Given the description of an element on the screen output the (x, y) to click on. 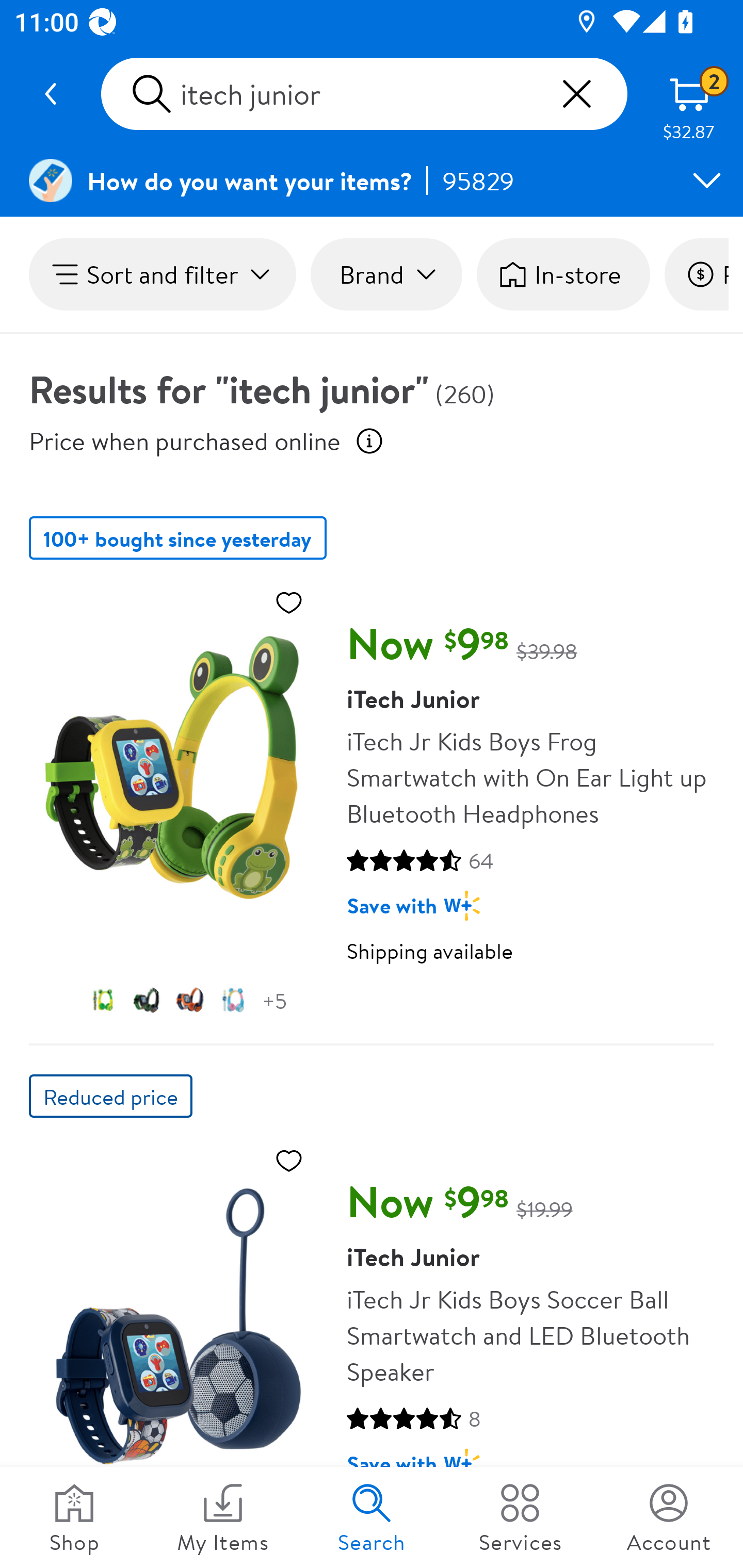
Navigate up (50, 93)
itech junior Clear Text (364, 94)
Clear Text (576, 94)
Filter by Brand, not applied,  Brand Select icon (386, 274)
Price when purchased online (184, 440)
Price when purchased online (369, 440)
Shop (74, 1517)
My Items (222, 1517)
Services (519, 1517)
Account (668, 1517)
